Given the description of an element on the screen output the (x, y) to click on. 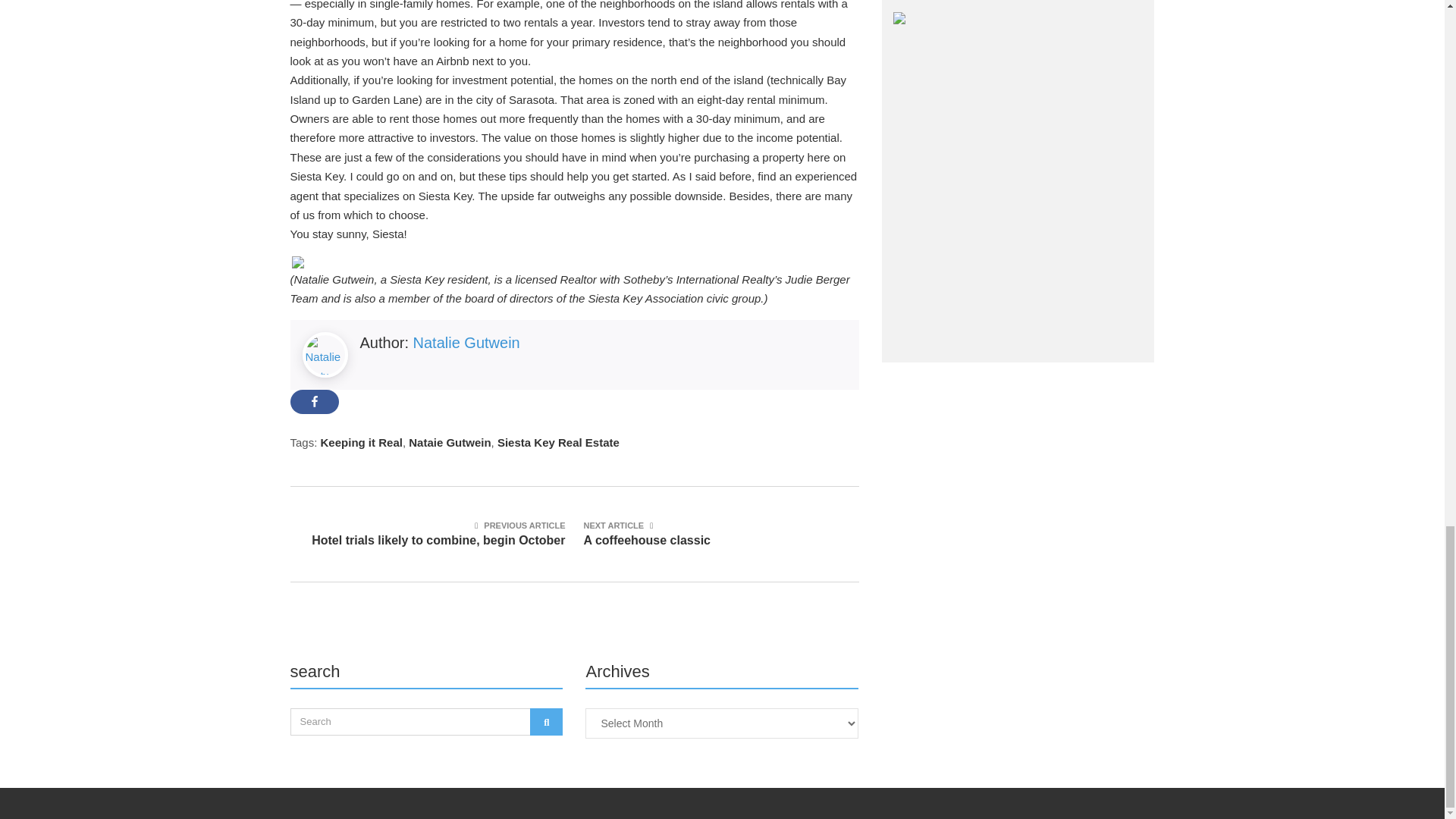
Share on Facebook (313, 401)
YouTube video player (1017, 179)
